Given the description of an element on the screen output the (x, y) to click on. 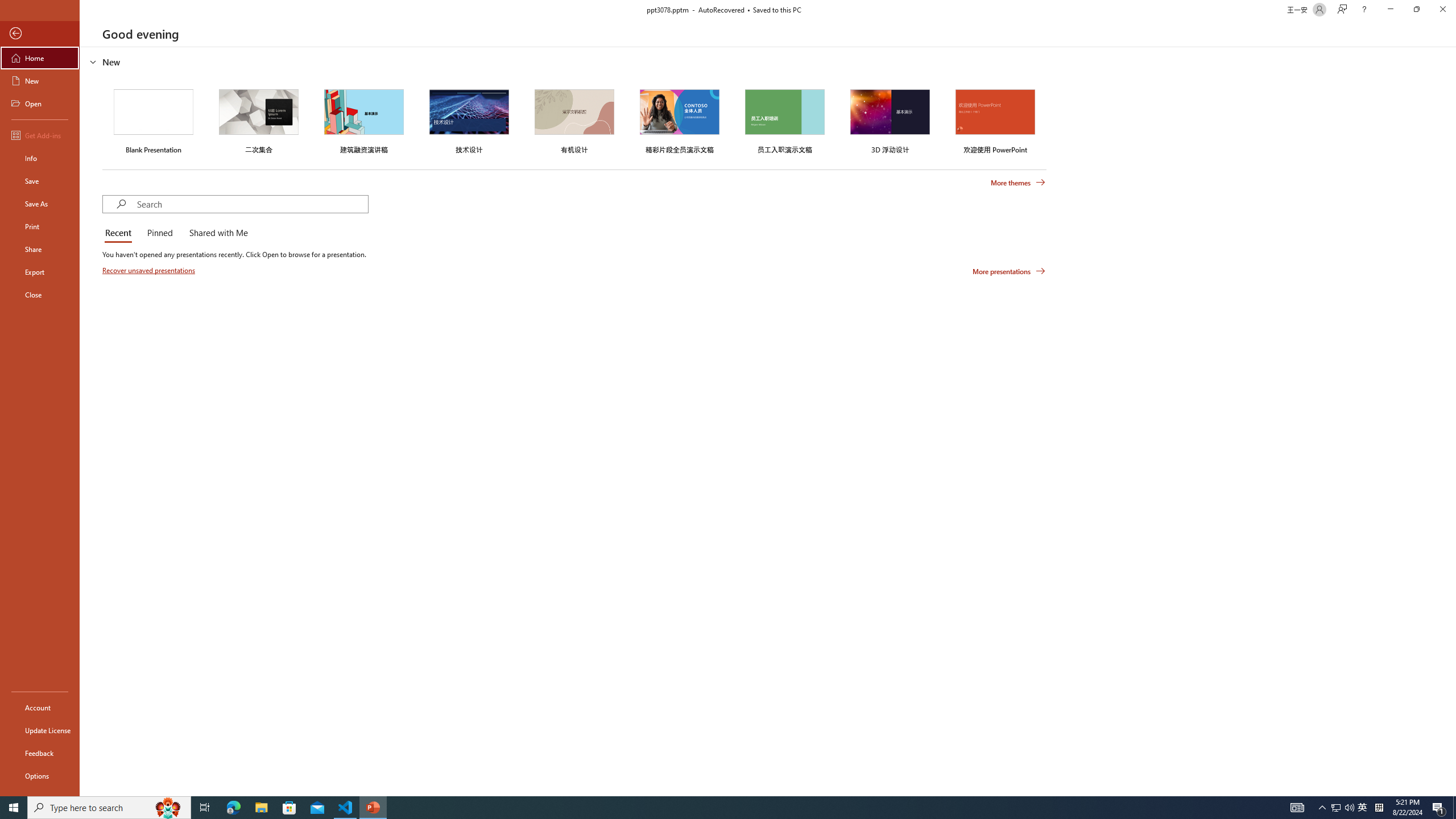
Save As (40, 203)
Recent (119, 233)
Export (40, 271)
Info (40, 157)
More themes (1018, 182)
Pinned (159, 233)
New (40, 80)
